Given the description of an element on the screen output the (x, y) to click on. 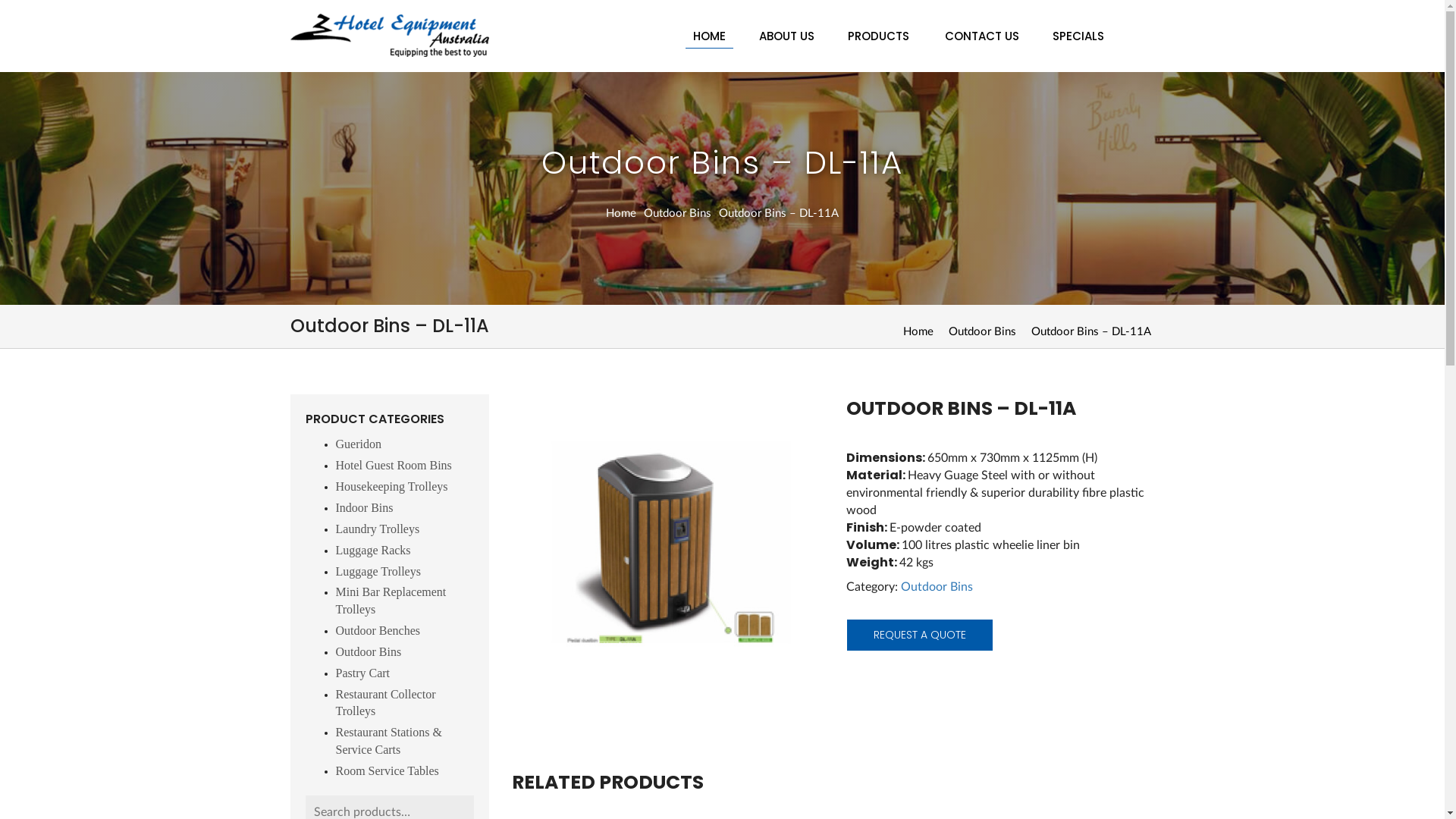
Outdoor Bins Element type: text (677, 213)
Home Element type: text (917, 331)
Pastry Cart Element type: text (362, 672)
Gueridon Element type: text (357, 443)
Mini Bar Replacement Trolleys Element type: text (390, 600)
Housekeeping Trolleys Element type: text (391, 486)
REQUEST A QUOTE Element type: text (919, 634)
Outdoor Bins Element type: text (981, 331)
Home Element type: text (620, 213)
Room Service Tables Element type: text (386, 770)
Outdoor Bins Element type: text (368, 651)
Hotel_Equipment_Australia_Product_Outdoor_Bins_DL-11A Element type: hover (665, 548)
Indoor Bins Element type: text (363, 507)
ABOUT US Element type: text (785, 35)
HOME Element type: text (708, 35)
S Element type: text (709, 47)
Restaurant Stations & Service Carts Element type: text (388, 740)
PRODUCTS Element type: text (879, 35)
CONTACT US Element type: text (981, 35)
SPECIALS Element type: text (1078, 35)
Luggage Racks Element type: text (372, 549)
Search Element type: text (24, 10)
Luggage Trolleys Element type: text (377, 570)
Outdoor Bins Element type: text (936, 586)
Hotel Guest Room Bins Element type: text (393, 464)
Restaurant Collector Trolleys Element type: text (385, 702)
Laundry Trolleys Element type: text (377, 528)
Outdoor Benches Element type: text (377, 630)
